Given the description of an element on the screen output the (x, y) to click on. 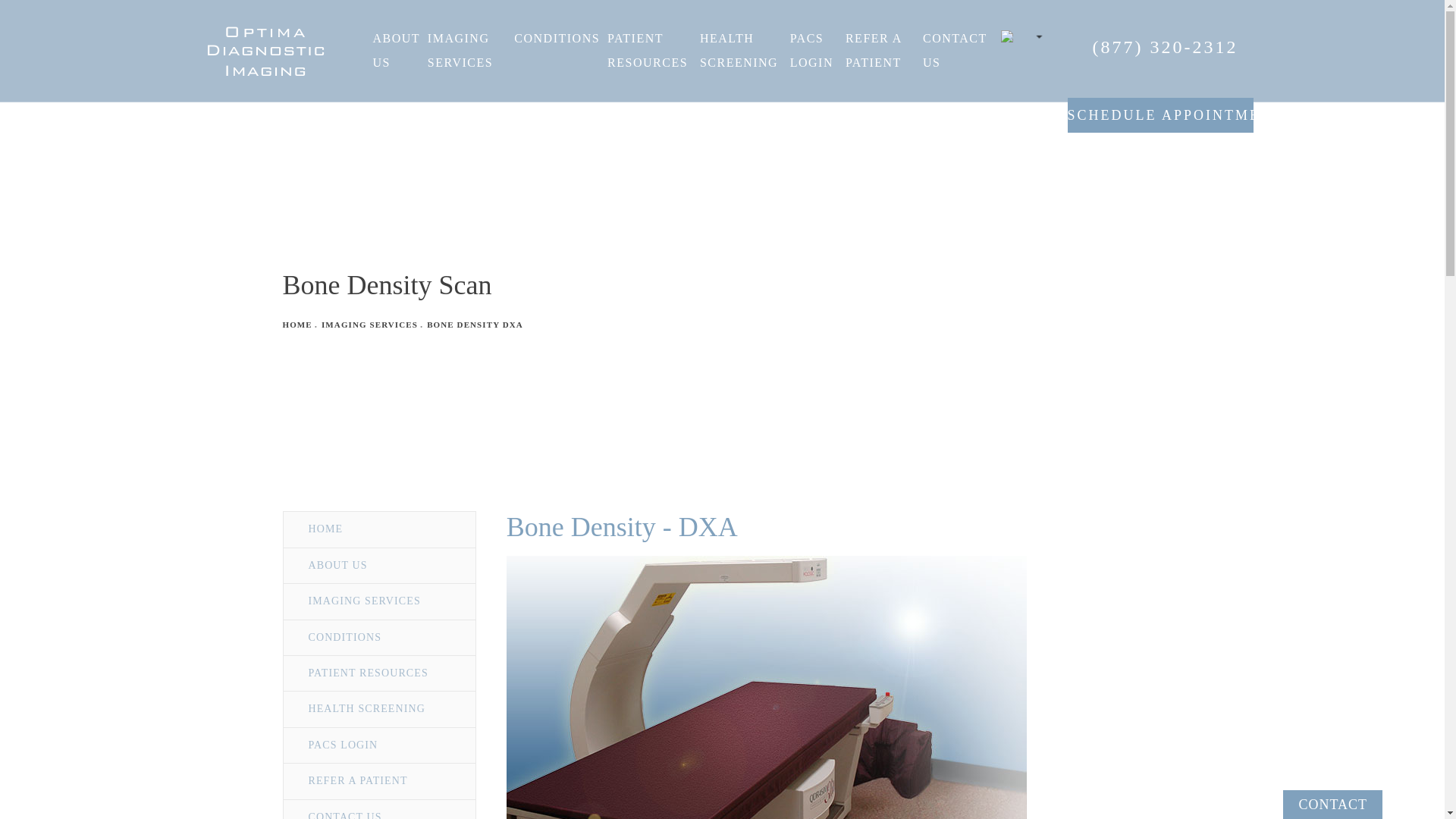
IMAGING SERVICES (467, 50)
ABOUT US (395, 50)
CONDITIONS (557, 38)
